Given the description of an element on the screen output the (x, y) to click on. 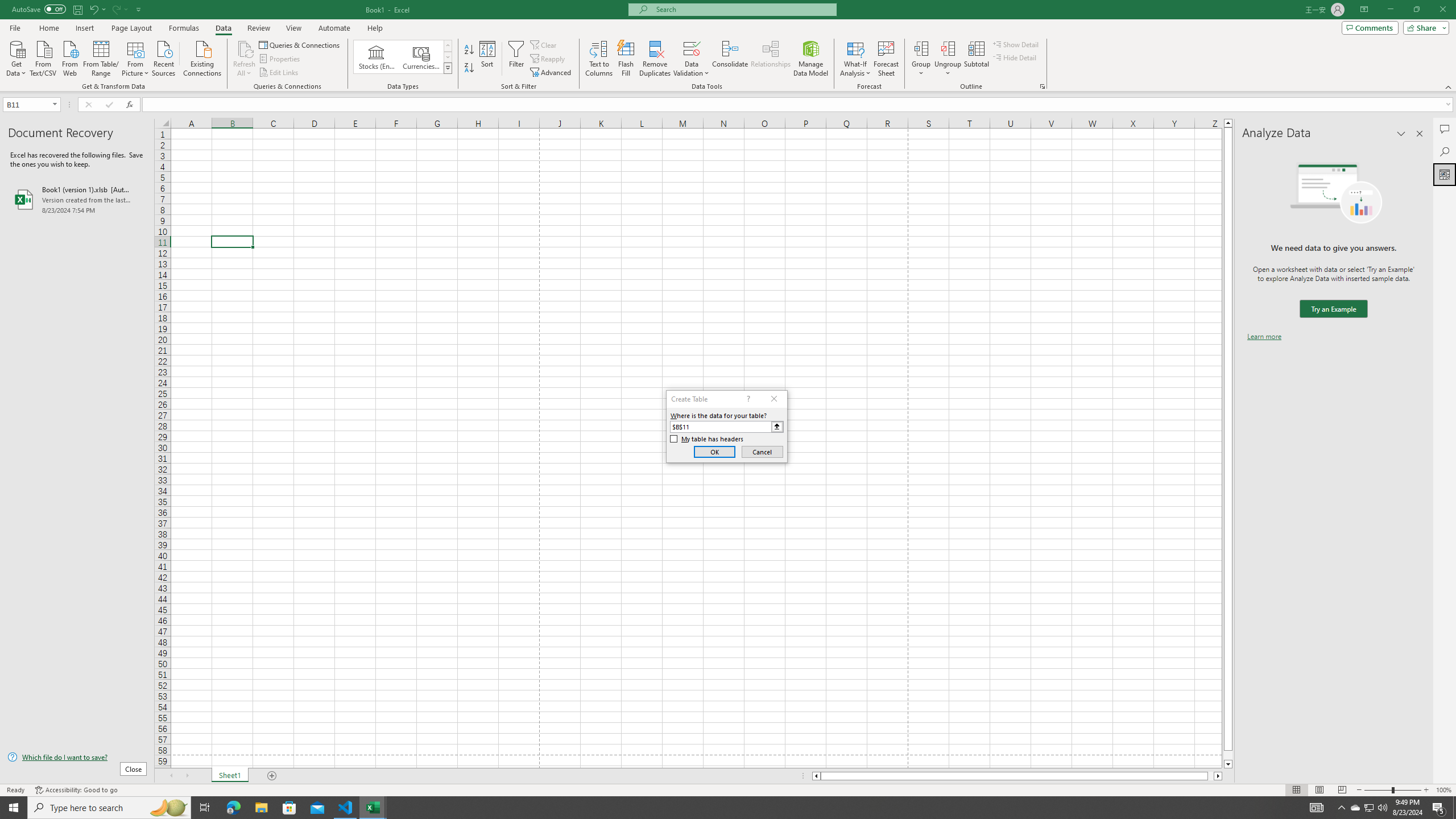
From Picture (135, 57)
Relationships (770, 58)
Sort A to Z (469, 49)
From Text/CSV (43, 57)
Consolidate... (729, 58)
